Given the description of an element on the screen output the (x, y) to click on. 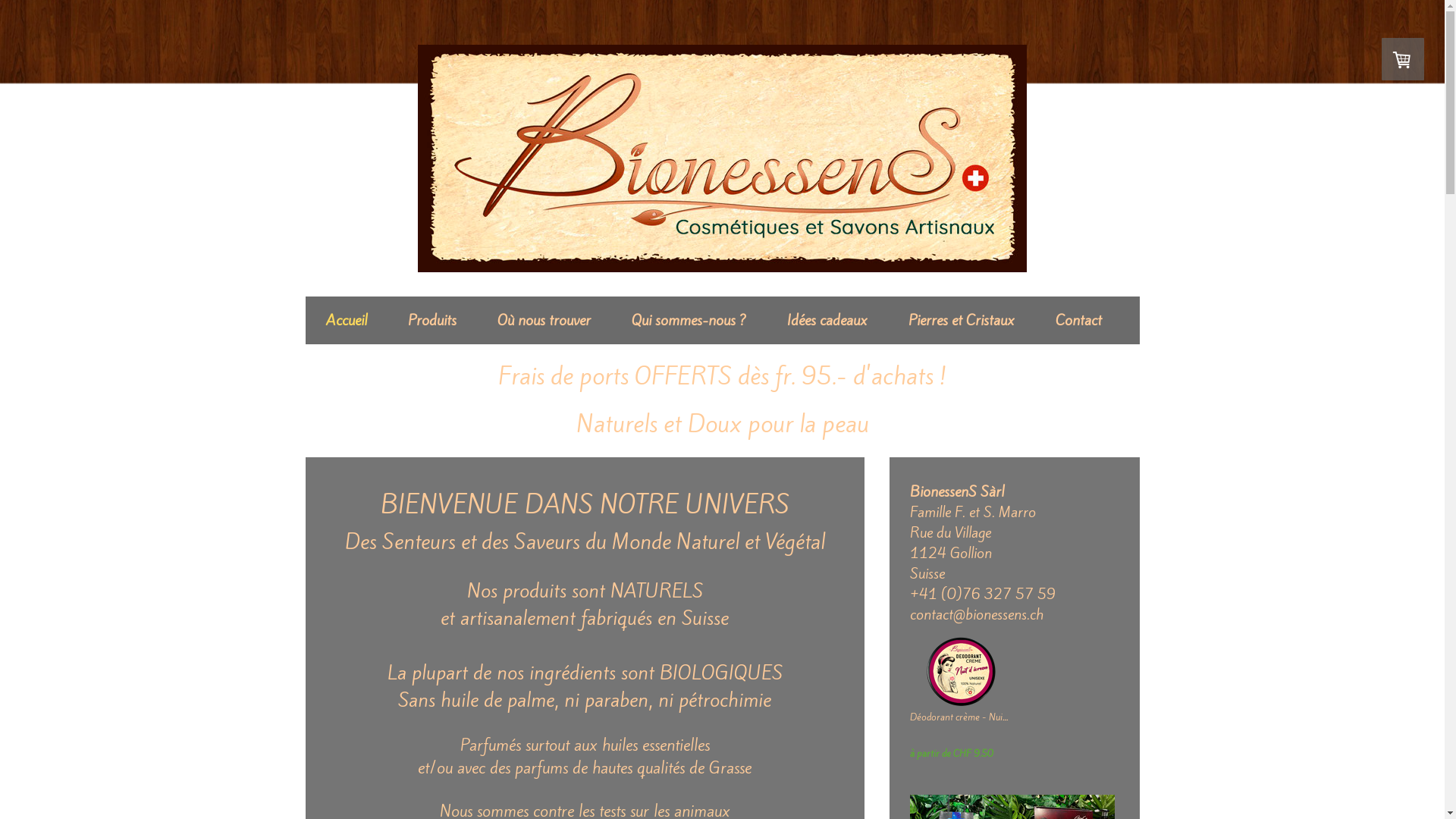
Qui sommes-nous ? Element type: text (688, 320)
Produits Element type: text (431, 320)
Pierres et Cristaux Element type: text (960, 320)
contact@bionessens.ch Element type: text (976, 613)
Accueil Element type: text (345, 320)
Contact Element type: text (1077, 320)
